Given the description of an element on the screen output the (x, y) to click on. 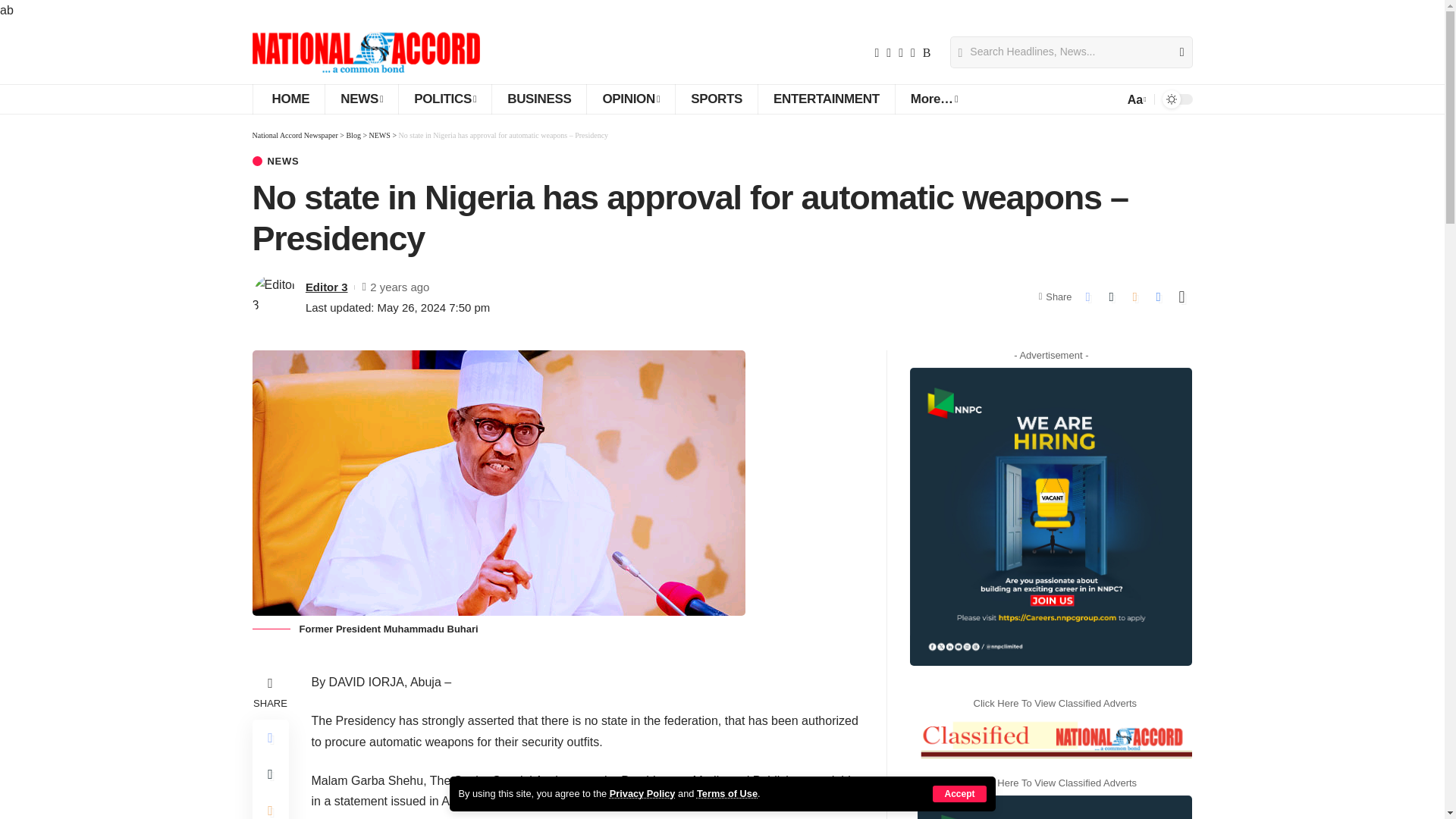
SPORTS (716, 99)
Go to the NEWS Category archives. (379, 135)
Terms of Use (727, 793)
BUSINESS (539, 99)
POLITICS (444, 99)
Go to National Accord Newspaper. (294, 135)
Privacy Policy (642, 793)
ENTERTAINMENT (826, 99)
NEWS (360, 99)
HOME (287, 99)
